Given the description of an element on the screen output the (x, y) to click on. 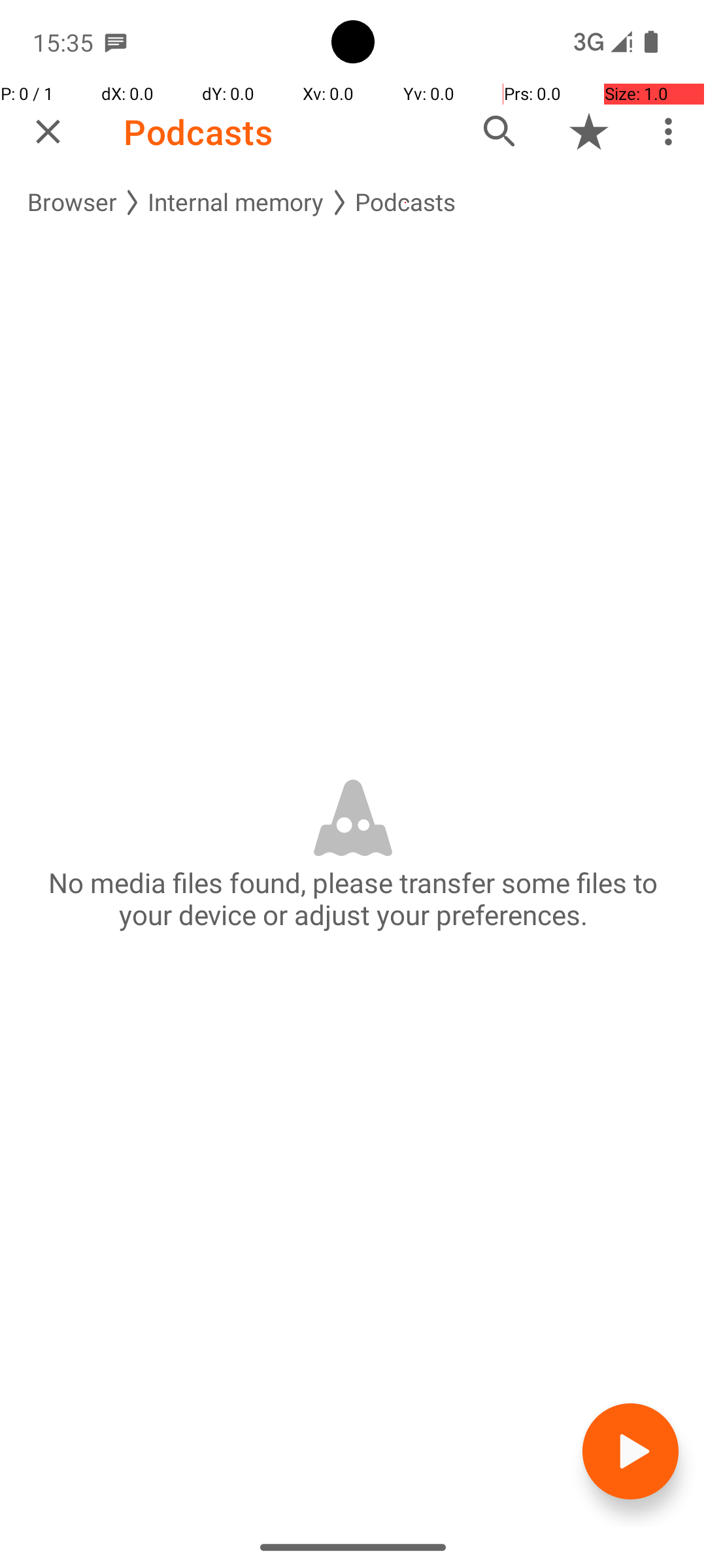
Podcasts Element type: android.widget.TextView (197, 131)
No media files found, please transfer some files to your device or adjust your preferences. Element type: android.widget.TextView (352, 897)
Play Element type: android.widget.ImageButton (630, 1451)
Browser Element type: android.widget.TextView (72, 202)
Internal memory Element type: android.widget.TextView (235, 202)
